Given the description of an element on the screen output the (x, y) to click on. 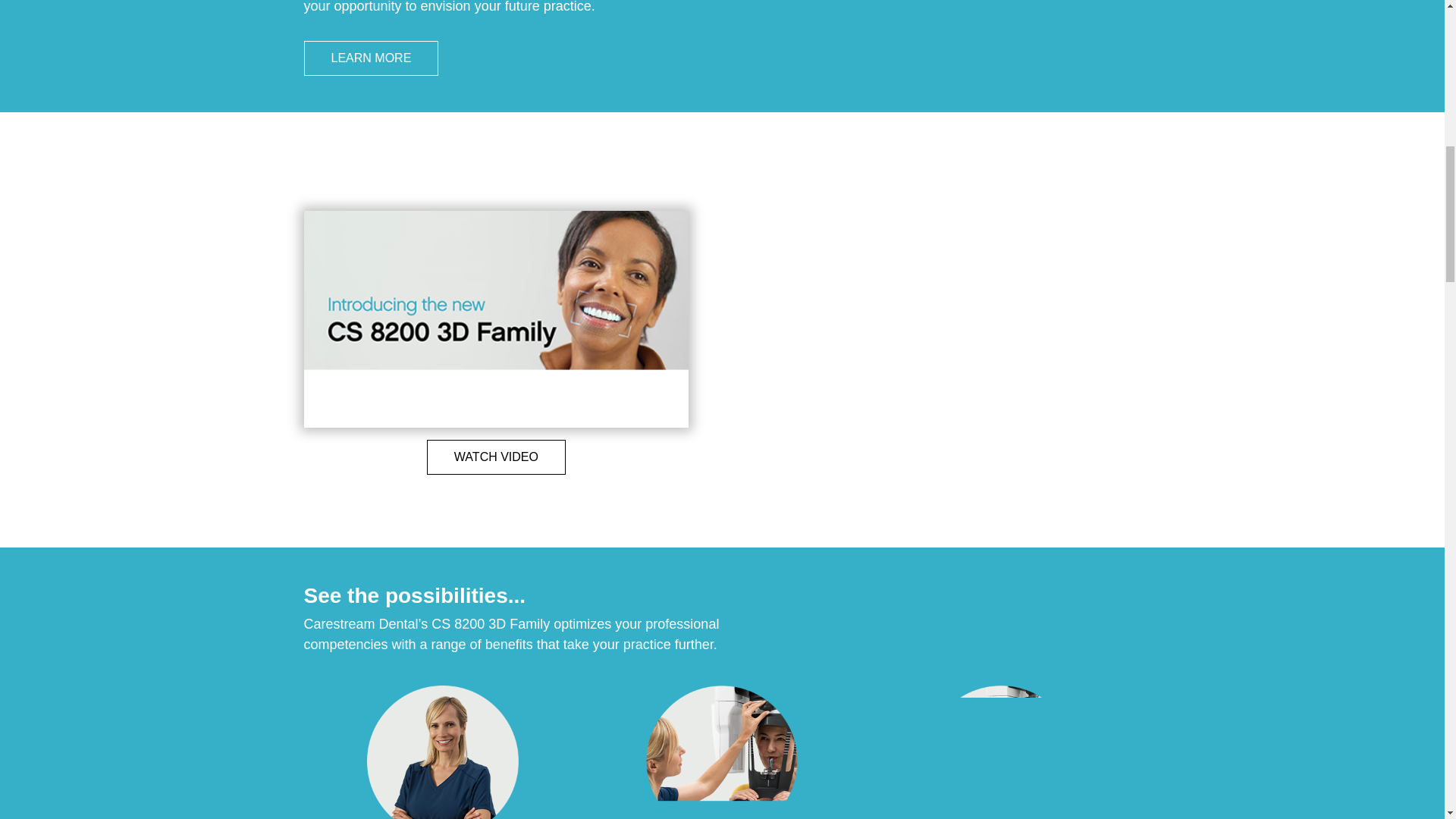
WATCH VIDEO (495, 348)
LEARN MORE (370, 58)
